Given the description of an element on the screen output the (x, y) to click on. 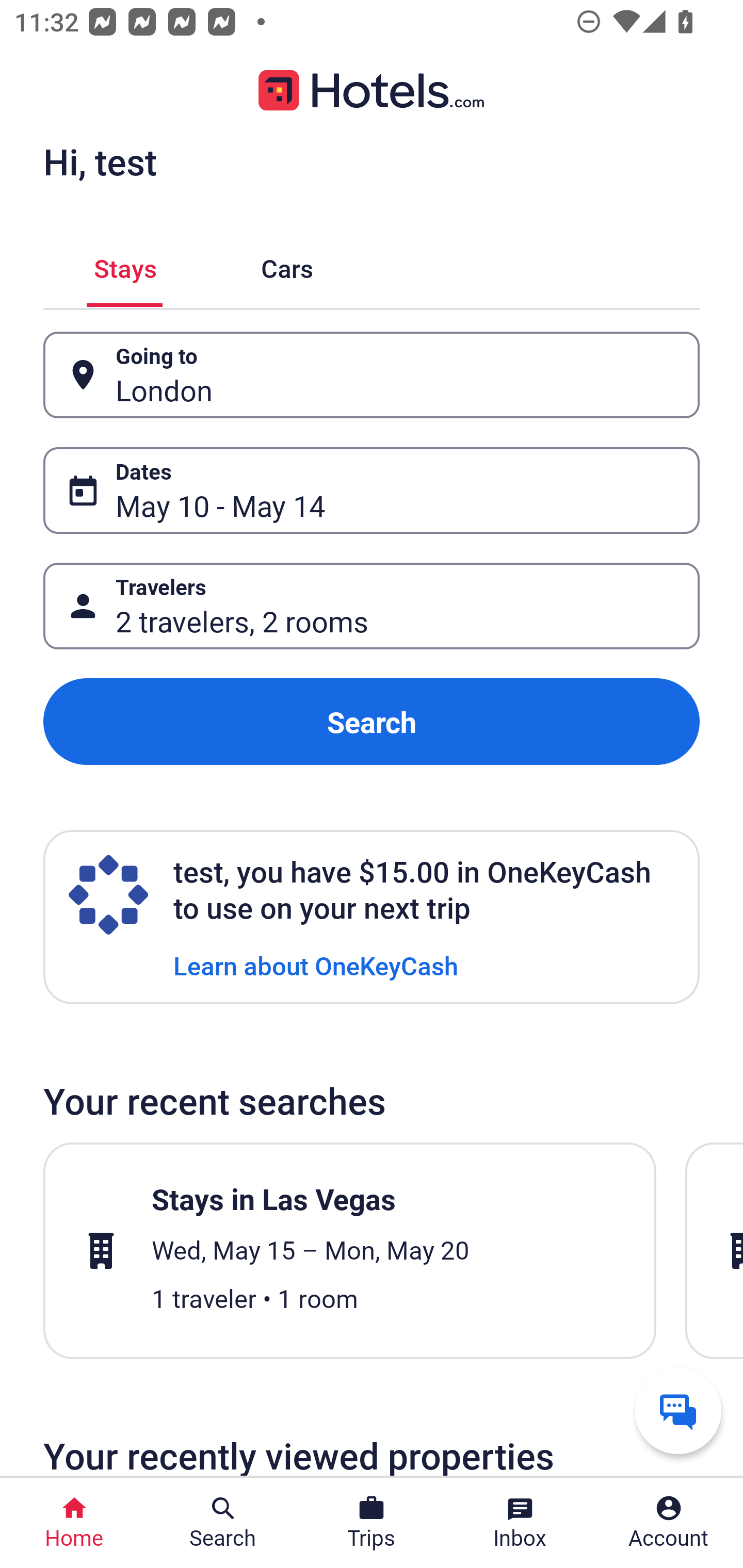
Hi, test (99, 161)
Cars (286, 265)
Going to Button London (371, 375)
Dates Button May 10 - May 14 (371, 489)
Travelers Button 2 travelers, 2 rooms (371, 605)
Search (371, 721)
Learn about OneKeyCash Learn about OneKeyCash Link (315, 964)
Get help from a virtual agent (677, 1410)
Search Search Button (222, 1522)
Trips Trips Button (371, 1522)
Inbox Inbox Button (519, 1522)
Account Profile. Button (668, 1522)
